Given the description of an element on the screen output the (x, y) to click on. 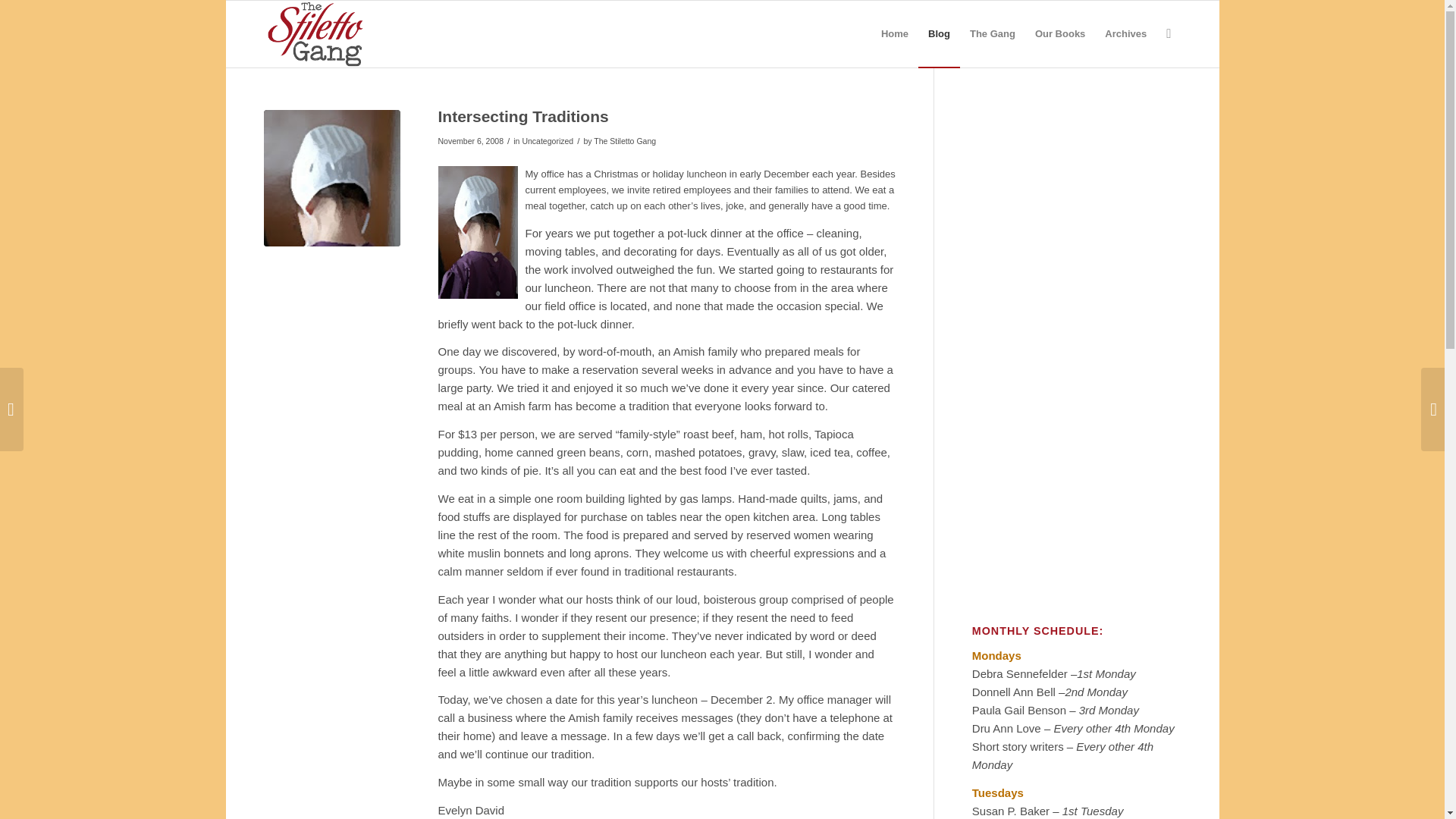
Posts by The Stiletto Gang (625, 140)
TheStilettoGang-logo-09 (317, 33)
Uncategorized (547, 140)
The Stiletto Gang (625, 140)
Amish.jpeg (331, 177)
